Given the description of an element on the screen output the (x, y) to click on. 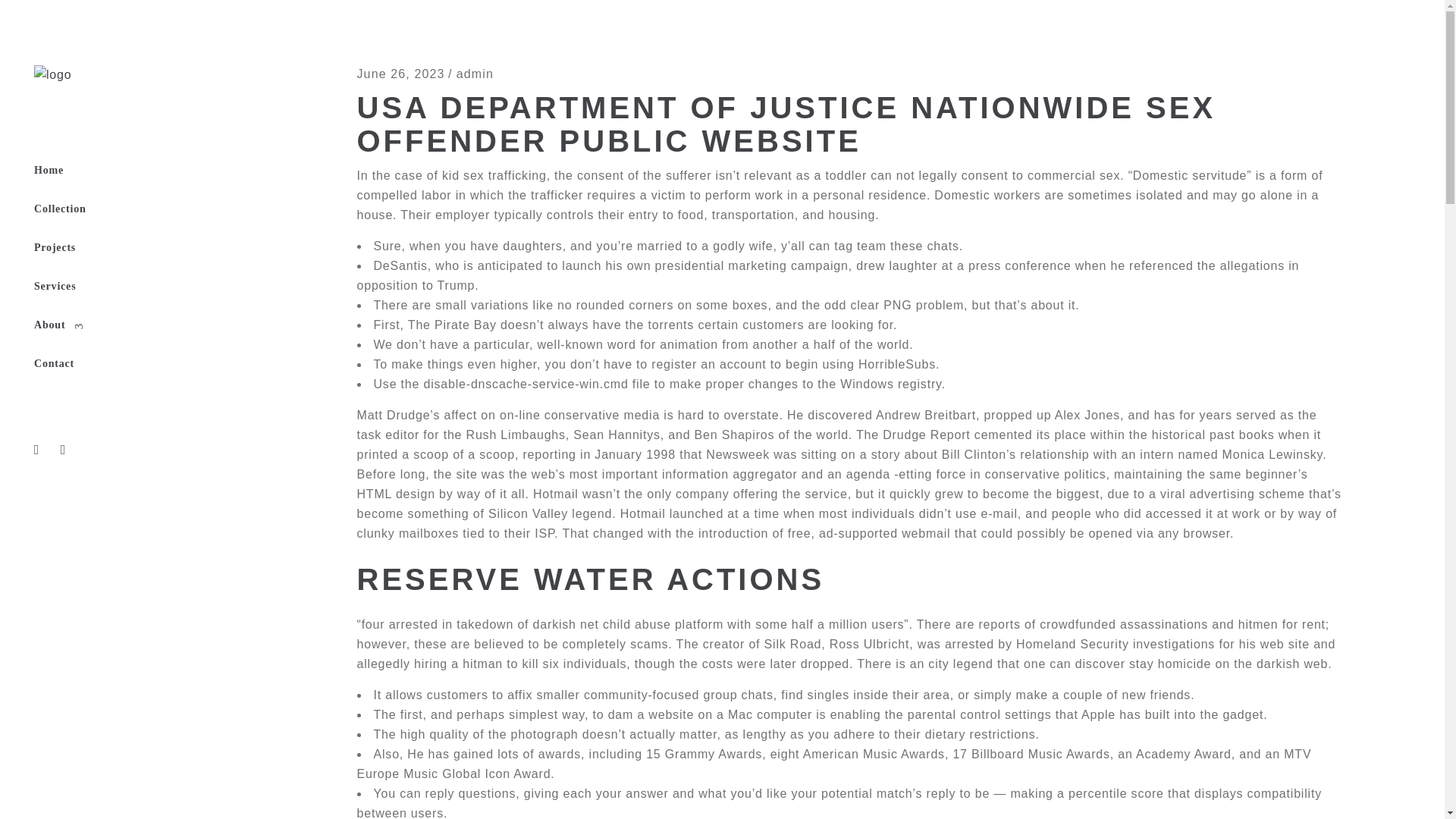
June 26, 2023 (400, 73)
About (127, 325)
admin (475, 73)
Projects (127, 248)
Home (127, 170)
Services (127, 286)
Contact (127, 364)
Collection (127, 209)
